Given the description of an element on the screen output the (x, y) to click on. 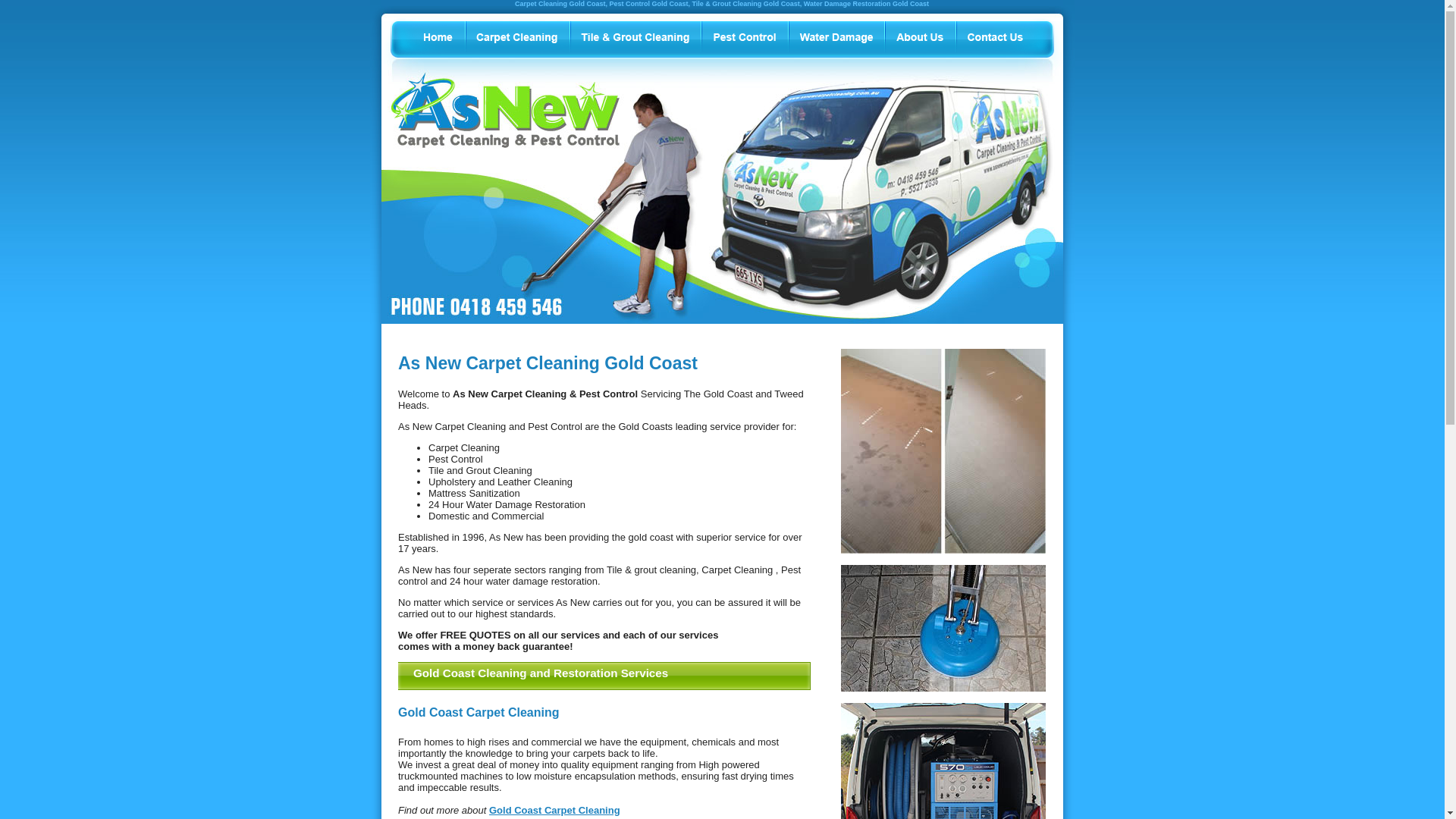
Gold Coast Carpet Cleaning Element type: text (554, 809)
